Given the description of an element on the screen output the (x, y) to click on. 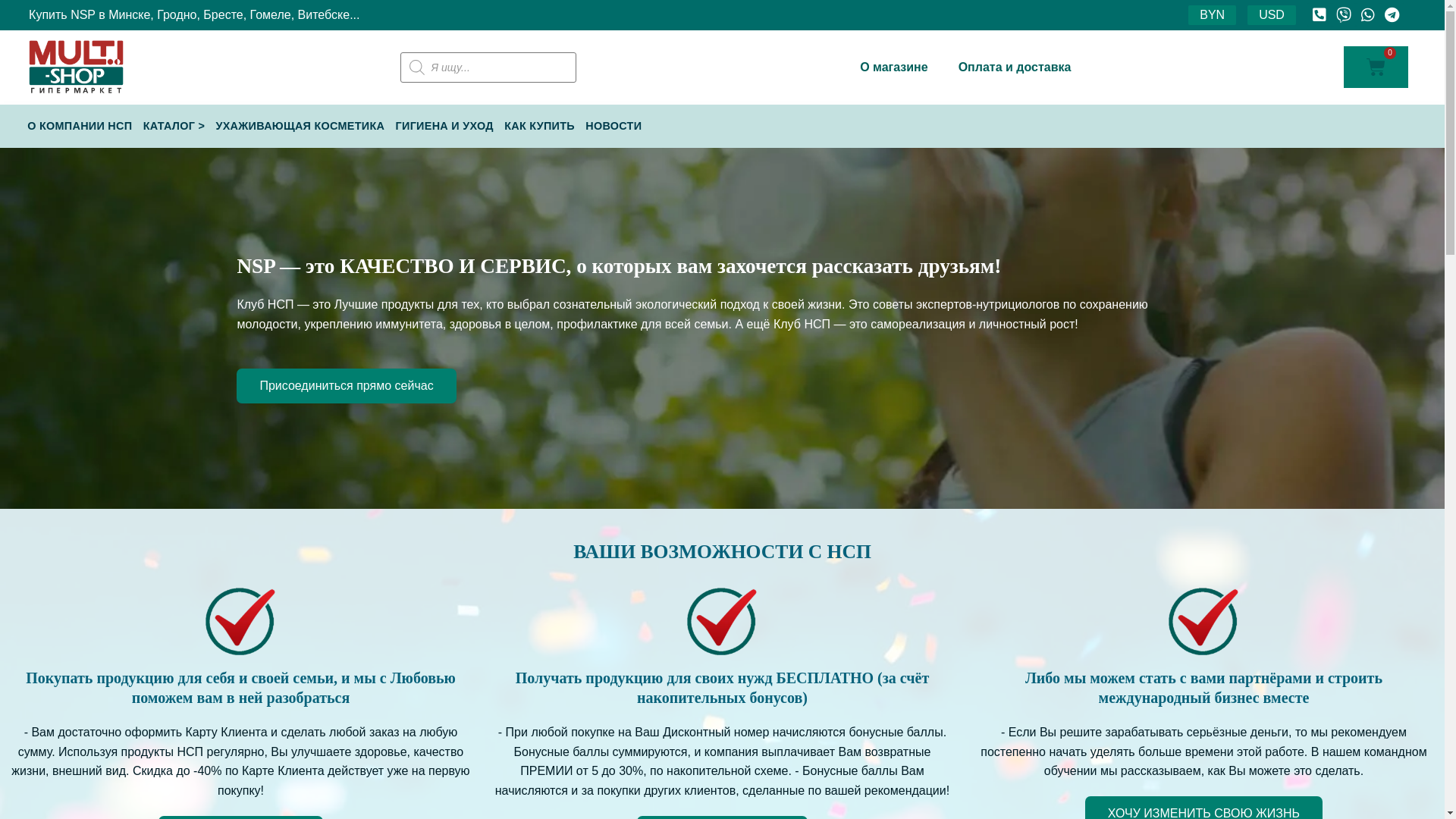
BYN Element type: text (1212, 15)
0 Element type: text (1375, 66)
USD Element type: text (1271, 15)
